Given the description of an element on the screen output the (x, y) to click on. 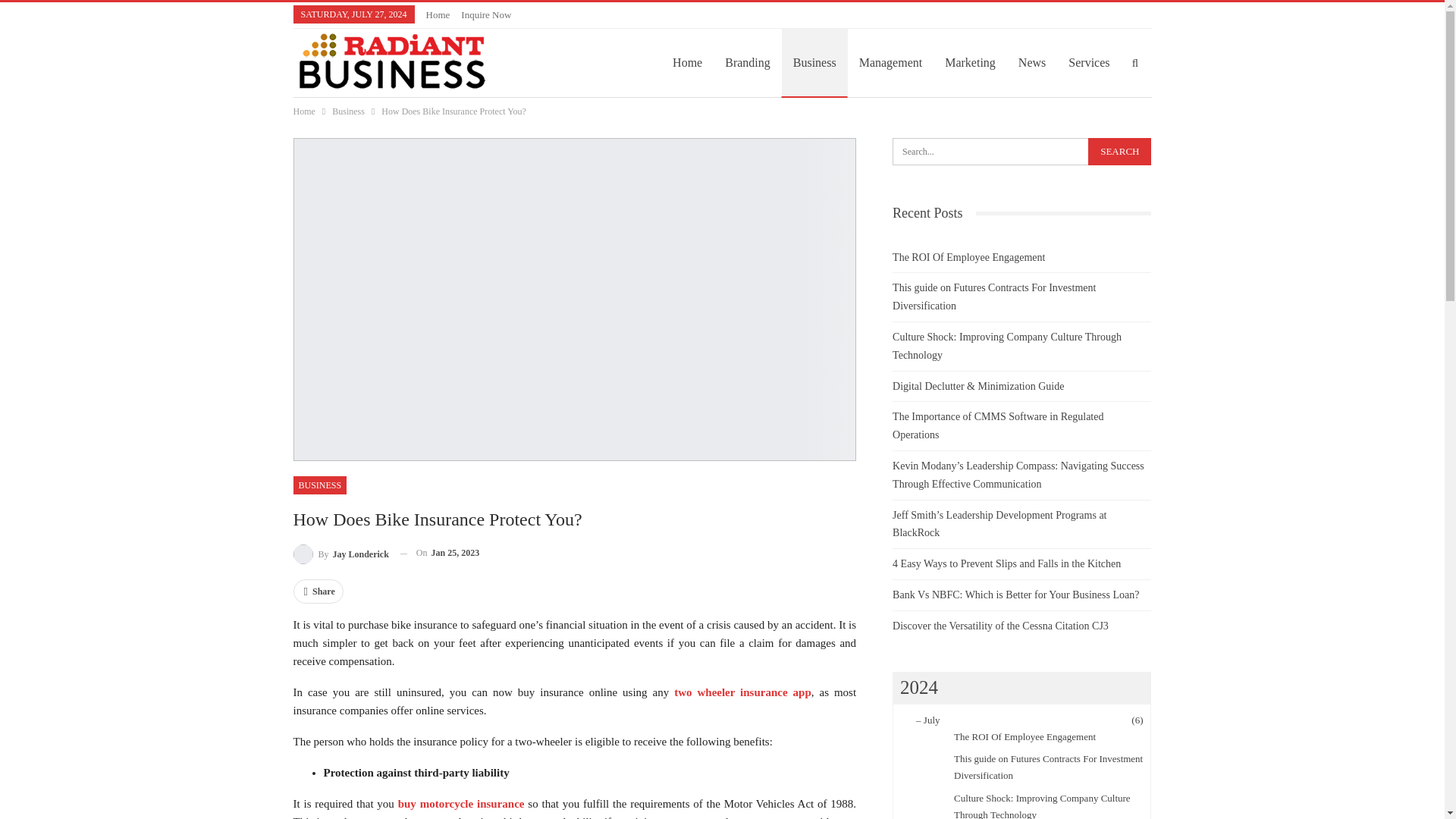
Management (890, 62)
Home (437, 14)
By Jay Londerick (340, 552)
Inquire Now (486, 14)
Search for: (1021, 151)
Marketing (970, 62)
Business (814, 62)
Branding (747, 62)
Search (1119, 151)
Business (348, 111)
Browse Author Articles (340, 552)
Search (1119, 151)
BUSINESS (319, 484)
Services (1089, 62)
two wheeler insurance app (742, 692)
